Given the description of an element on the screen output the (x, y) to click on. 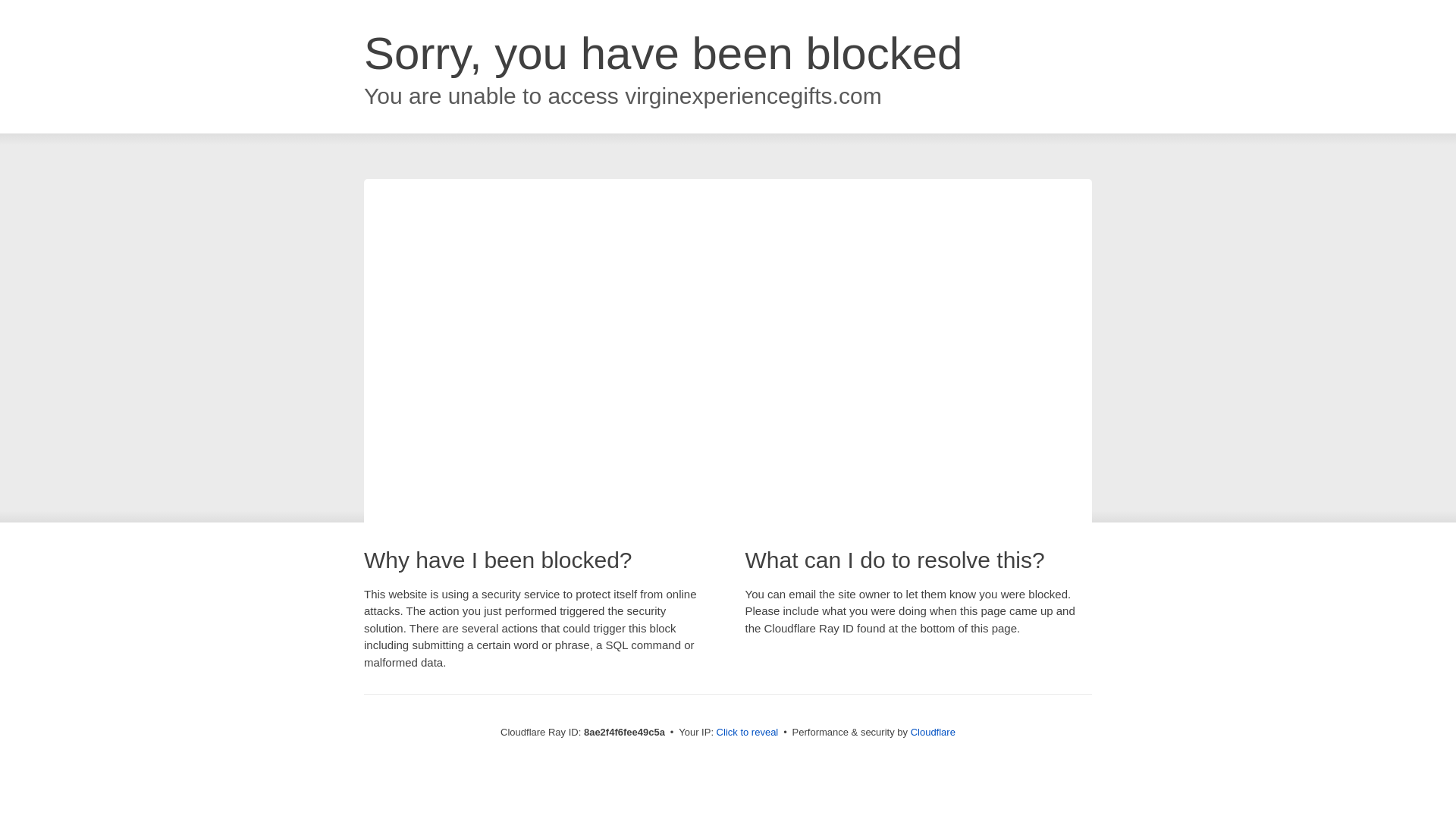
Click to reveal (747, 732)
Cloudflare (933, 731)
